Given the description of an element on the screen output the (x, y) to click on. 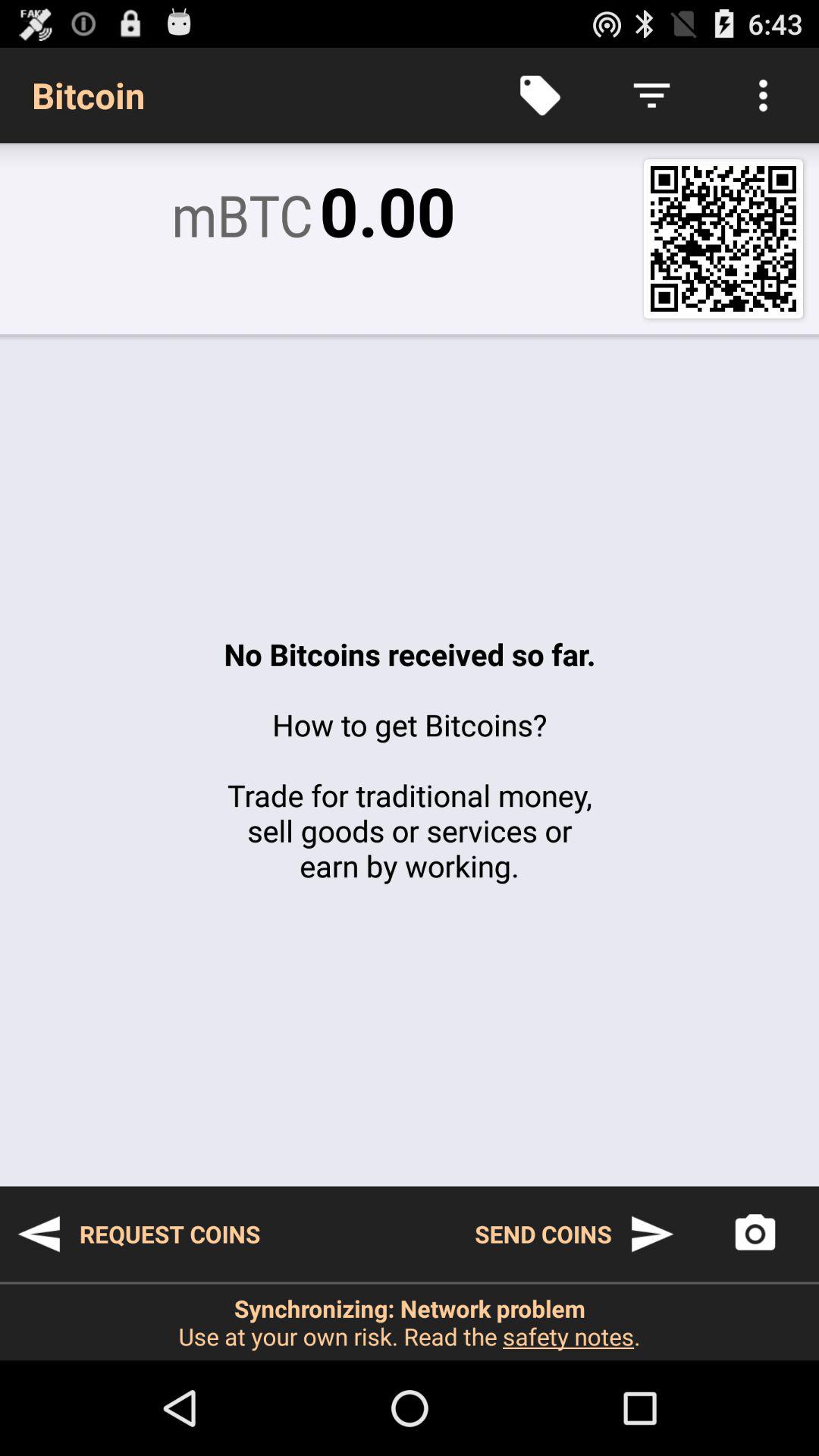
click app below no bitcoins received app (755, 1233)
